Given the description of an element on the screen output the (x, y) to click on. 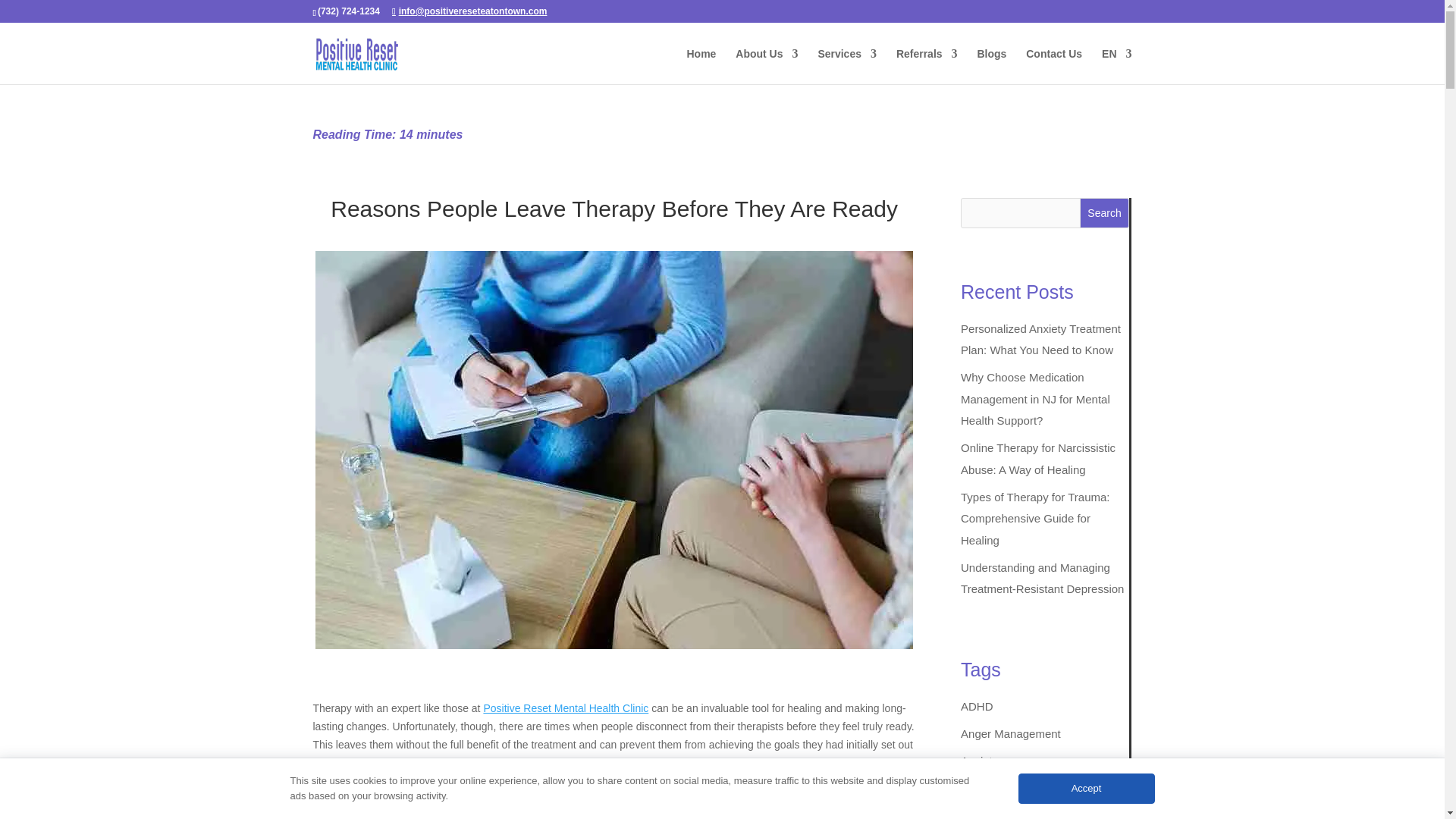
About Us (766, 66)
Contact Us (1053, 66)
Referrals (927, 66)
Services (846, 66)
